Given the description of an element on the screen output the (x, y) to click on. 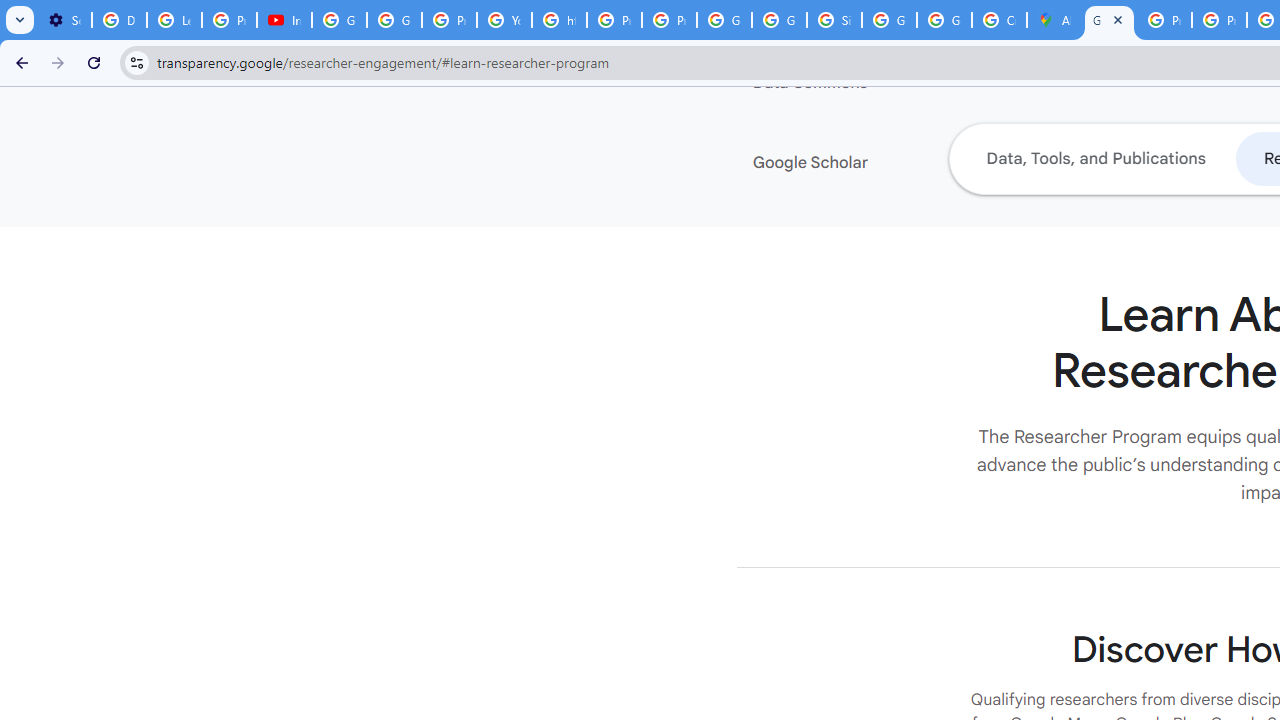
Sign in - Google Accounts (833, 20)
Introduction | Google Privacy Policy - YouTube (284, 20)
https://scholar.google.com/ (559, 20)
Privacy Help Center - Policies Help (1163, 20)
Privacy Help Center - Policies Help (614, 20)
YouTube (504, 20)
Settings - Performance (64, 20)
Delete photos & videos - Computer - Google Photos Help (119, 20)
